Given the description of an element on the screen output the (x, y) to click on. 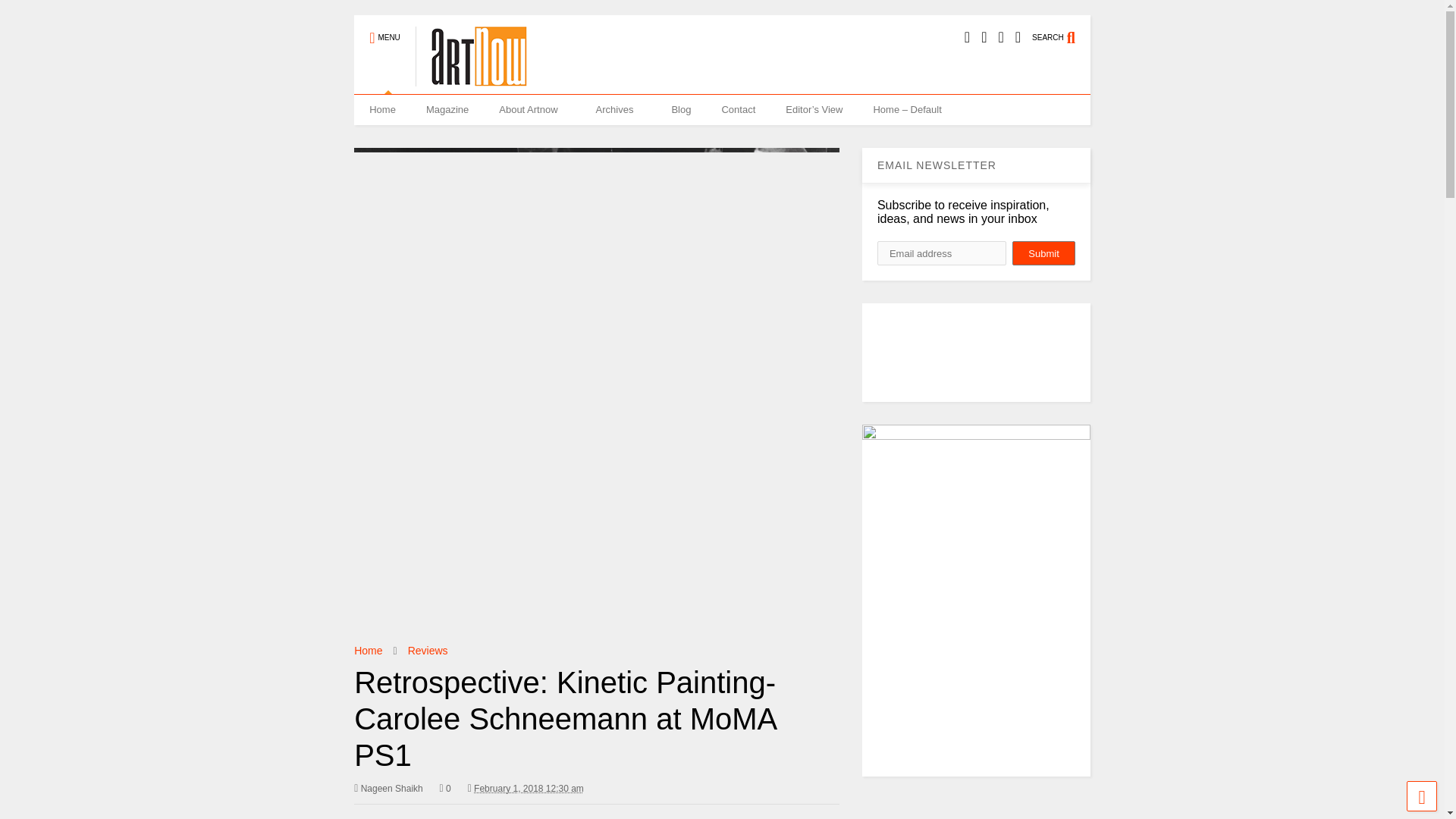
Nageen Shaikh (388, 788)
SEARCH (1061, 30)
Blog (681, 110)
Art Now Pakistan (470, 57)
Magazine (446, 110)
Reviews (427, 650)
February 1, 2018 12:30 am (525, 788)
Home (367, 650)
About Artnow (531, 110)
January 31, 2018 5:10 pm (528, 787)
Submit (1042, 252)
MENU (383, 30)
Contact (738, 110)
Archives (618, 110)
